Given the description of an element on the screen output the (x, y) to click on. 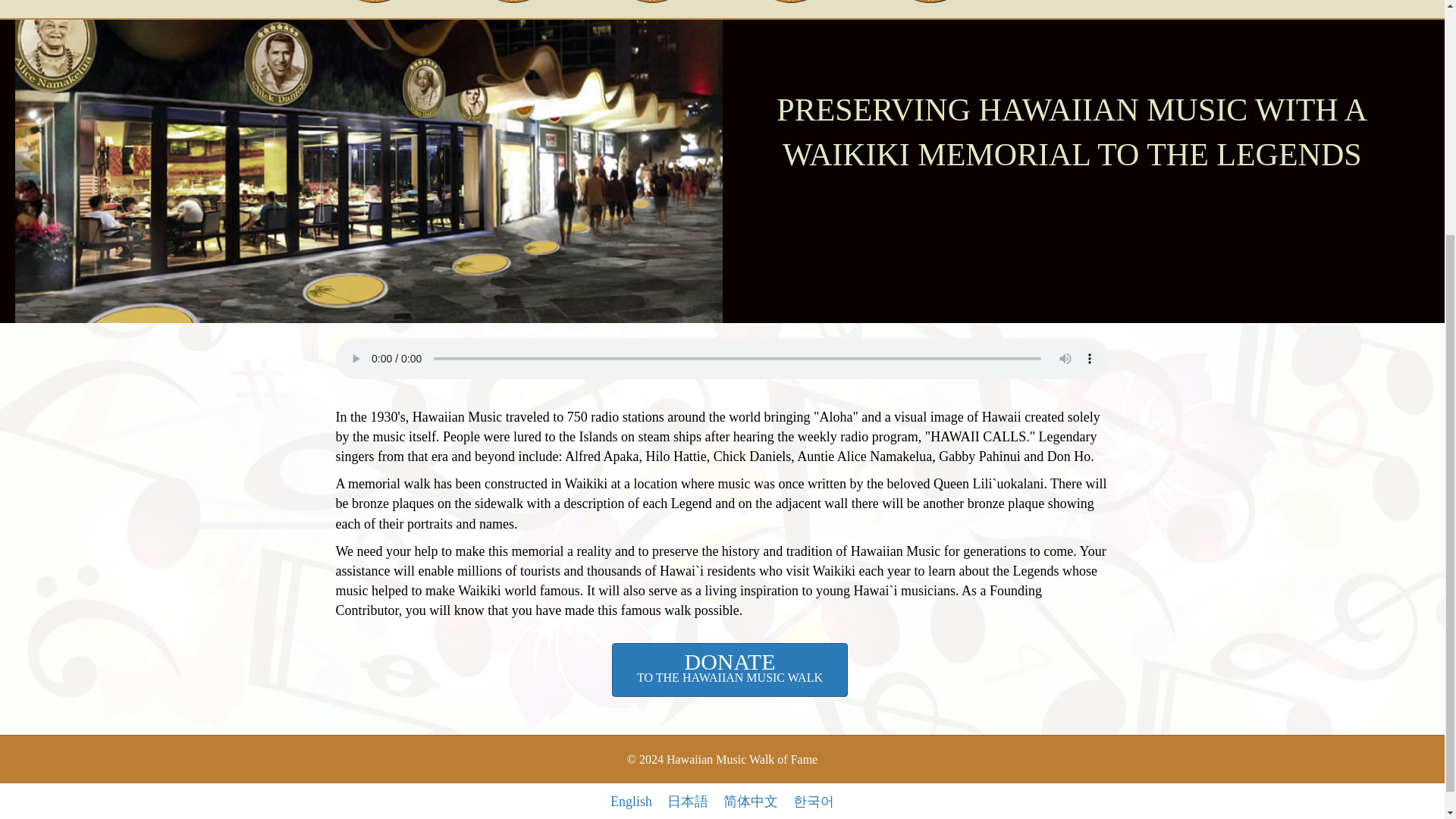
don-ho (1069, 1)
alfred-apaka (790, 1)
gabby pahinui (930, 1)
hile-hattie (652, 1)
chick-daniels (513, 1)
alice-namakelua (729, 669)
English (374, 1)
